Given the description of an element on the screen output the (x, y) to click on. 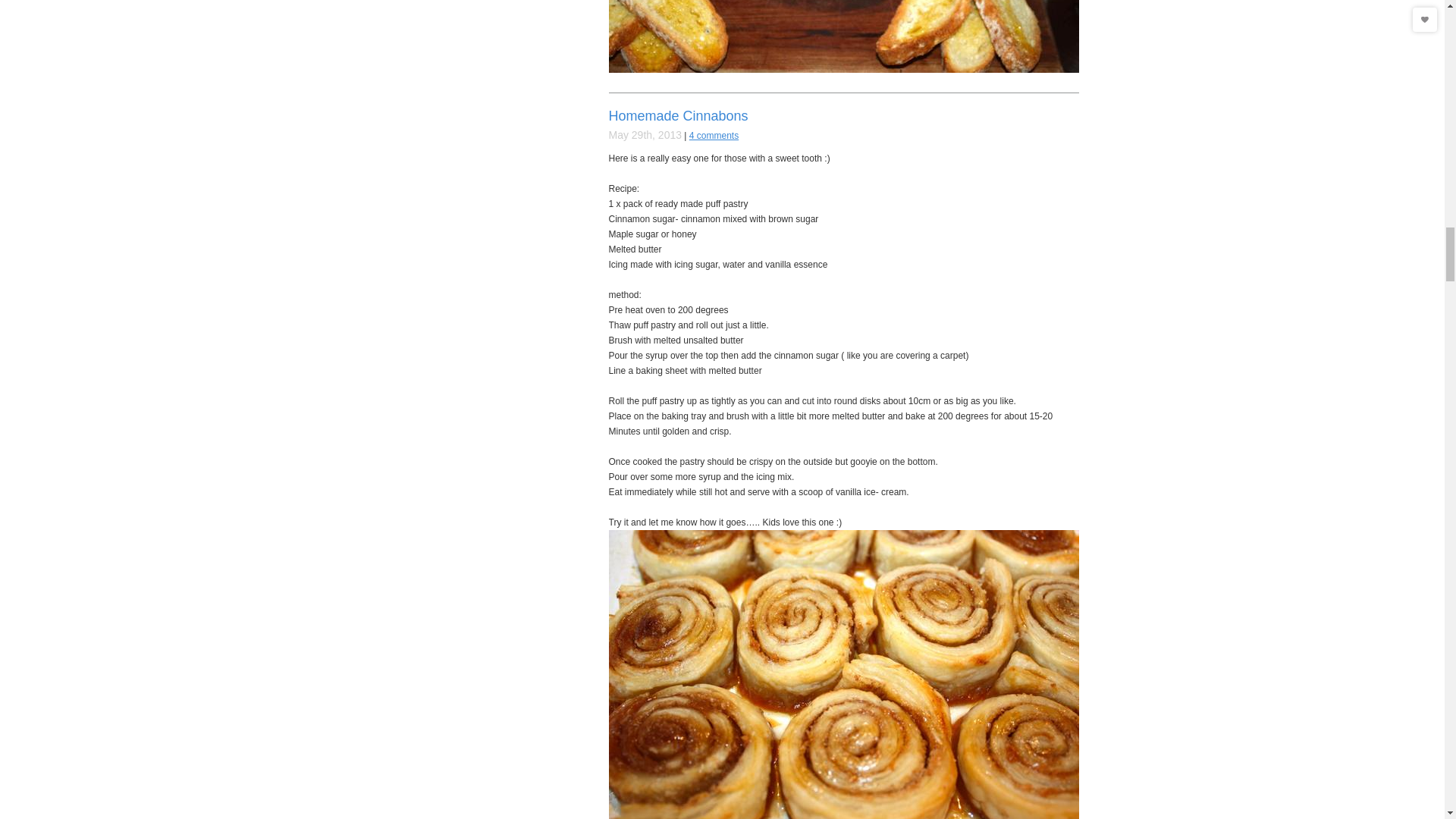
Permalink to Homemade Cinnabons  (678, 115)
Homemade Cinnabons (678, 115)
4 comments (713, 135)
